Given the description of an element on the screen output the (x, y) to click on. 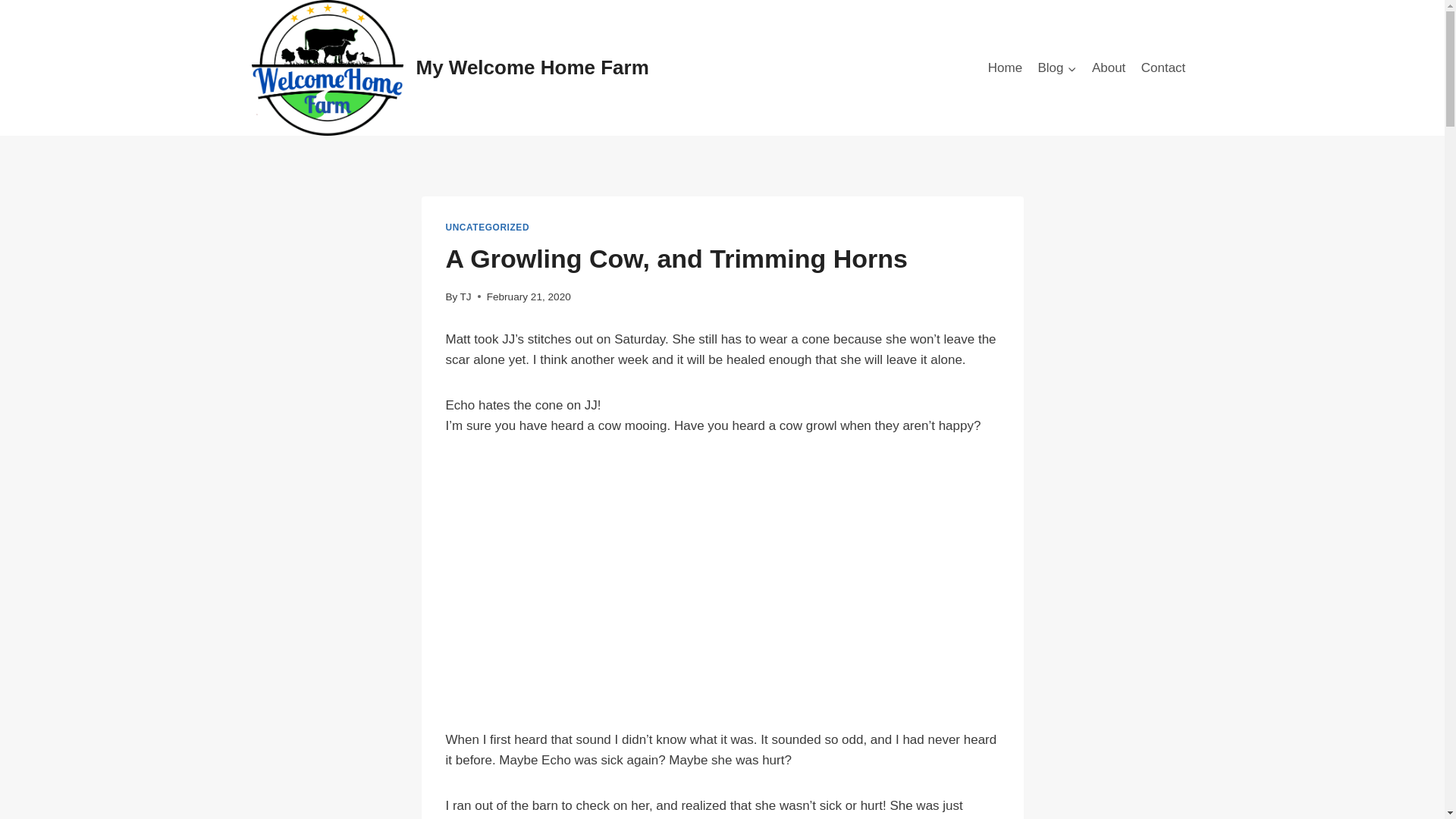
About (1109, 67)
My Welcome Home Farm (450, 67)
Contact (1163, 67)
UNCATEGORIZED (487, 226)
Blog (1056, 67)
Home (1004, 67)
TJ (465, 296)
